Given the description of an element on the screen output the (x, y) to click on. 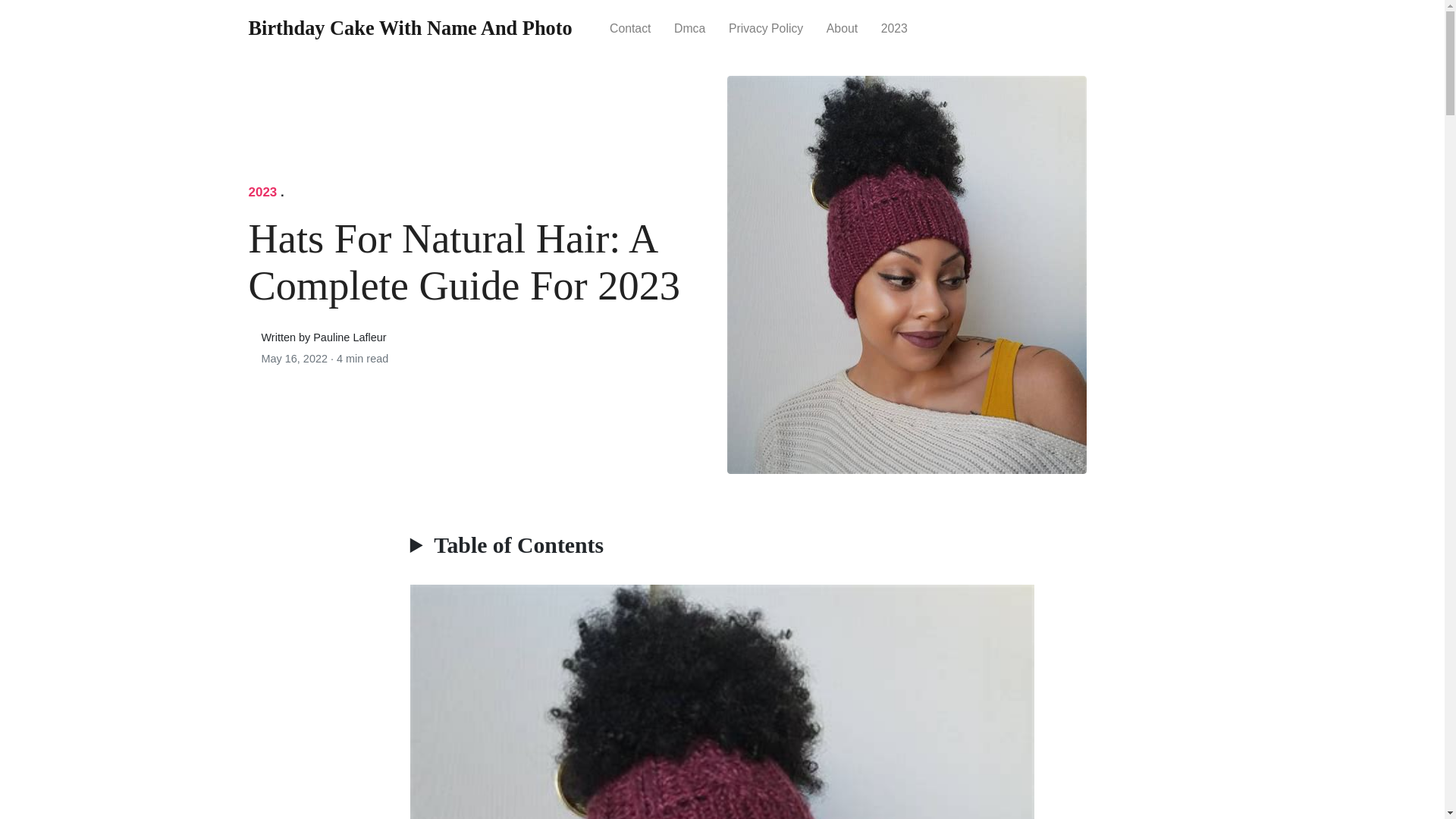
2023 (263, 192)
Privacy Policy (766, 27)
2023 (893, 27)
Contact (630, 27)
2023 (263, 192)
About (842, 27)
Birthday Cake With Name And Photo (410, 28)
Dmca (689, 27)
2023 (893, 27)
